Given the description of an element on the screen output the (x, y) to click on. 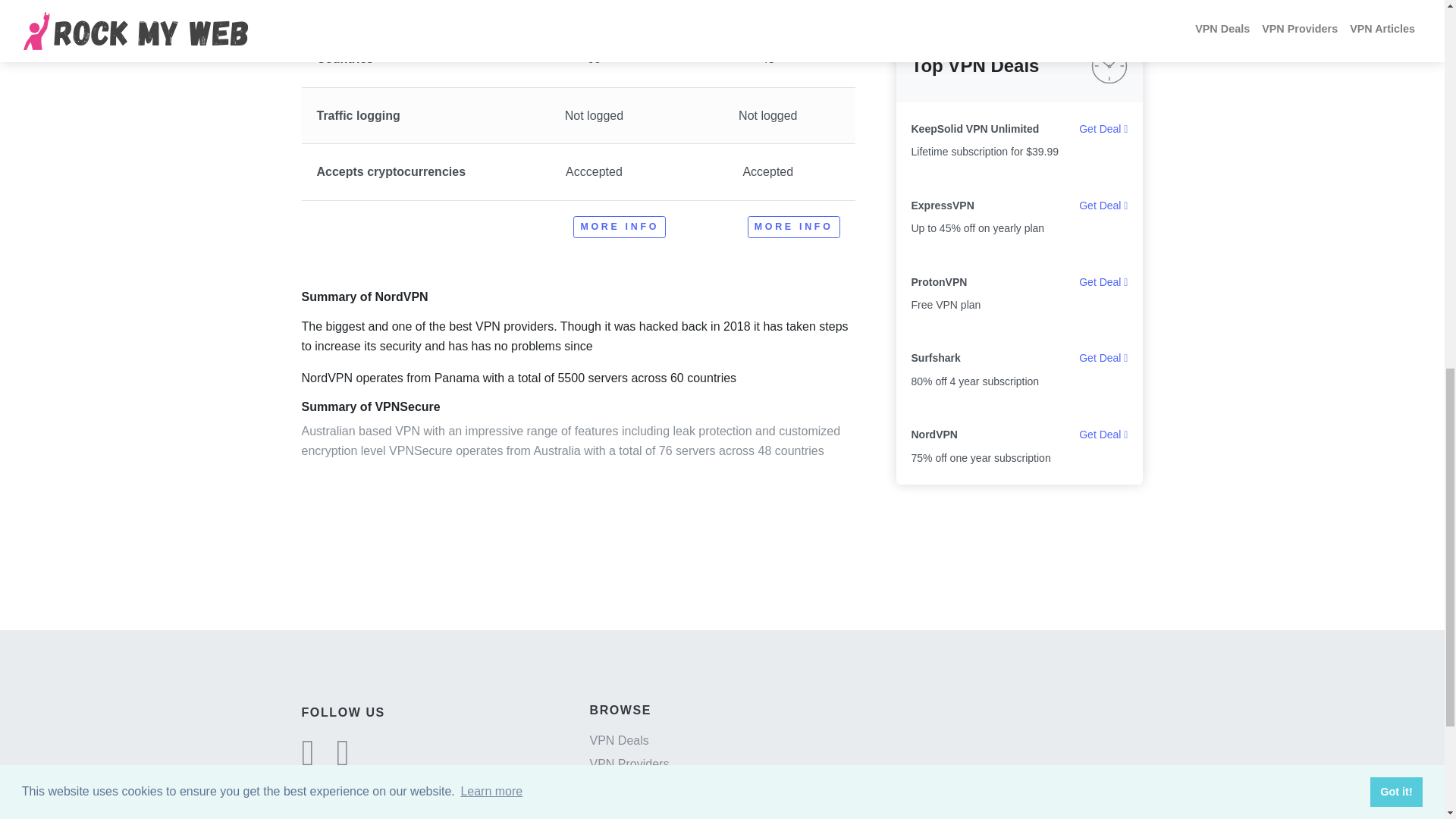
facebook (342, 760)
VPN Articles (622, 786)
VPN Deals (618, 739)
twitter (308, 760)
MORE INFO (794, 227)
MORE INFO (619, 227)
VPN Providers (628, 763)
